Given the description of an element on the screen output the (x, y) to click on. 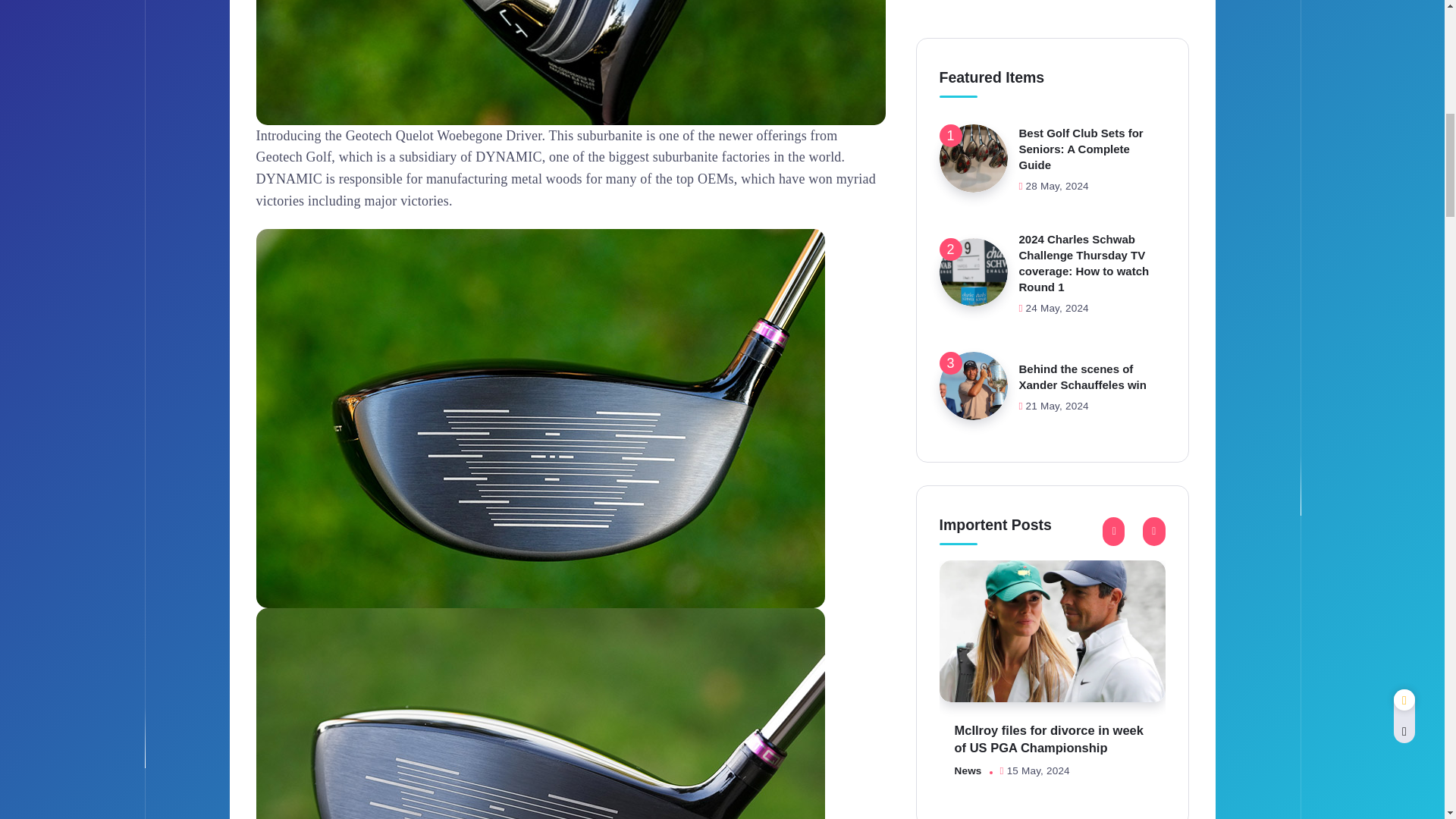
McIlroy files for divorce in week of US PGA Championship (1047, 459)
 Behind the scenes of Xander Schauffeles win (1083, 97)
McIlroy files for divorce in week of US PGA Championship (1051, 352)
Behind the scenes of Xander Schauffeles win (973, 106)
